Given the description of an element on the screen output the (x, y) to click on. 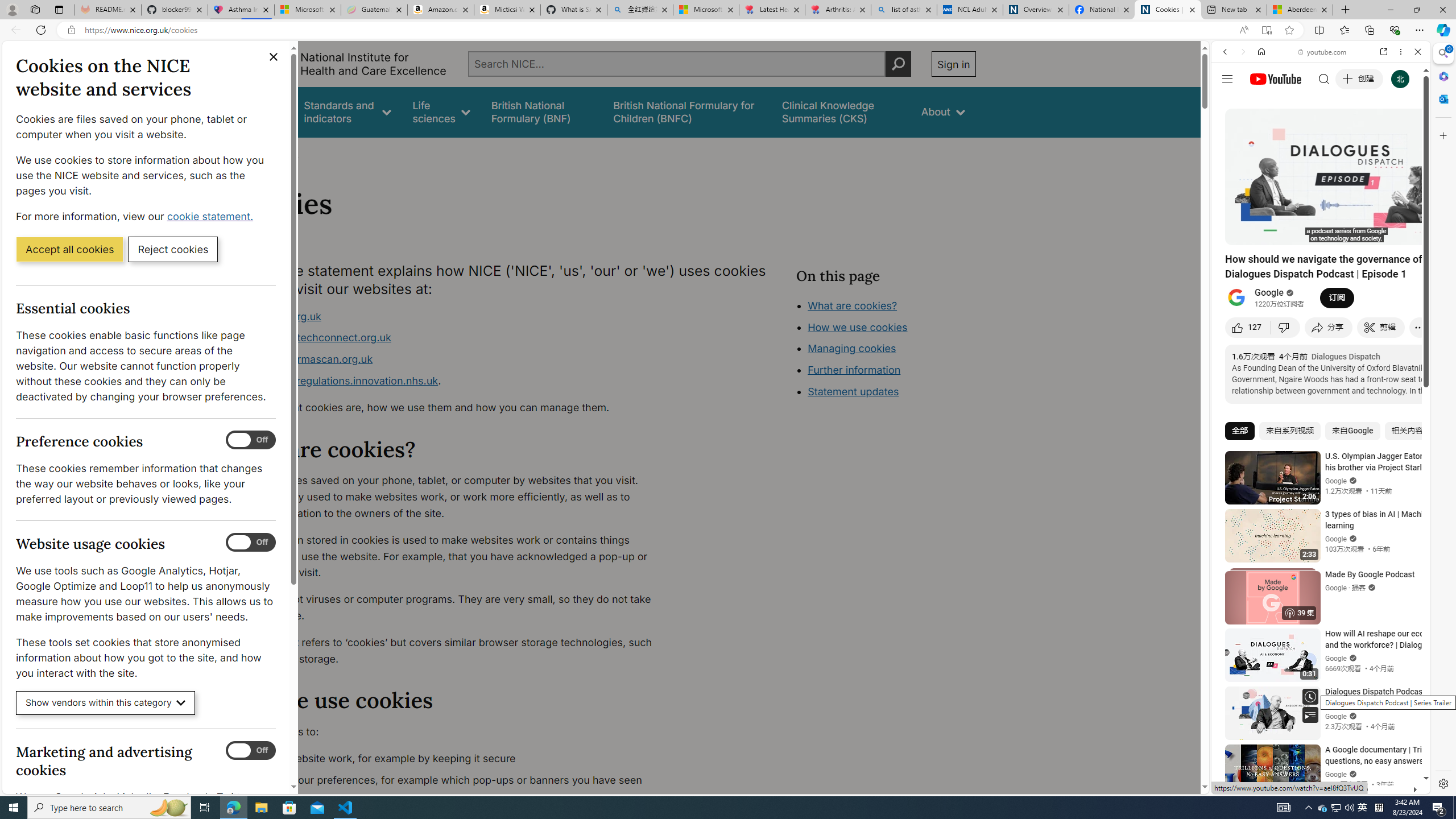
Music (1320, 309)
Class: dict_pnIcon rms_img (1312, 784)
Cookies | About | NICE (1167, 9)
Asthma Inhalers: Names and Types (240, 9)
Click to scroll right (1407, 456)
